Given the description of an element on the screen output the (x, y) to click on. 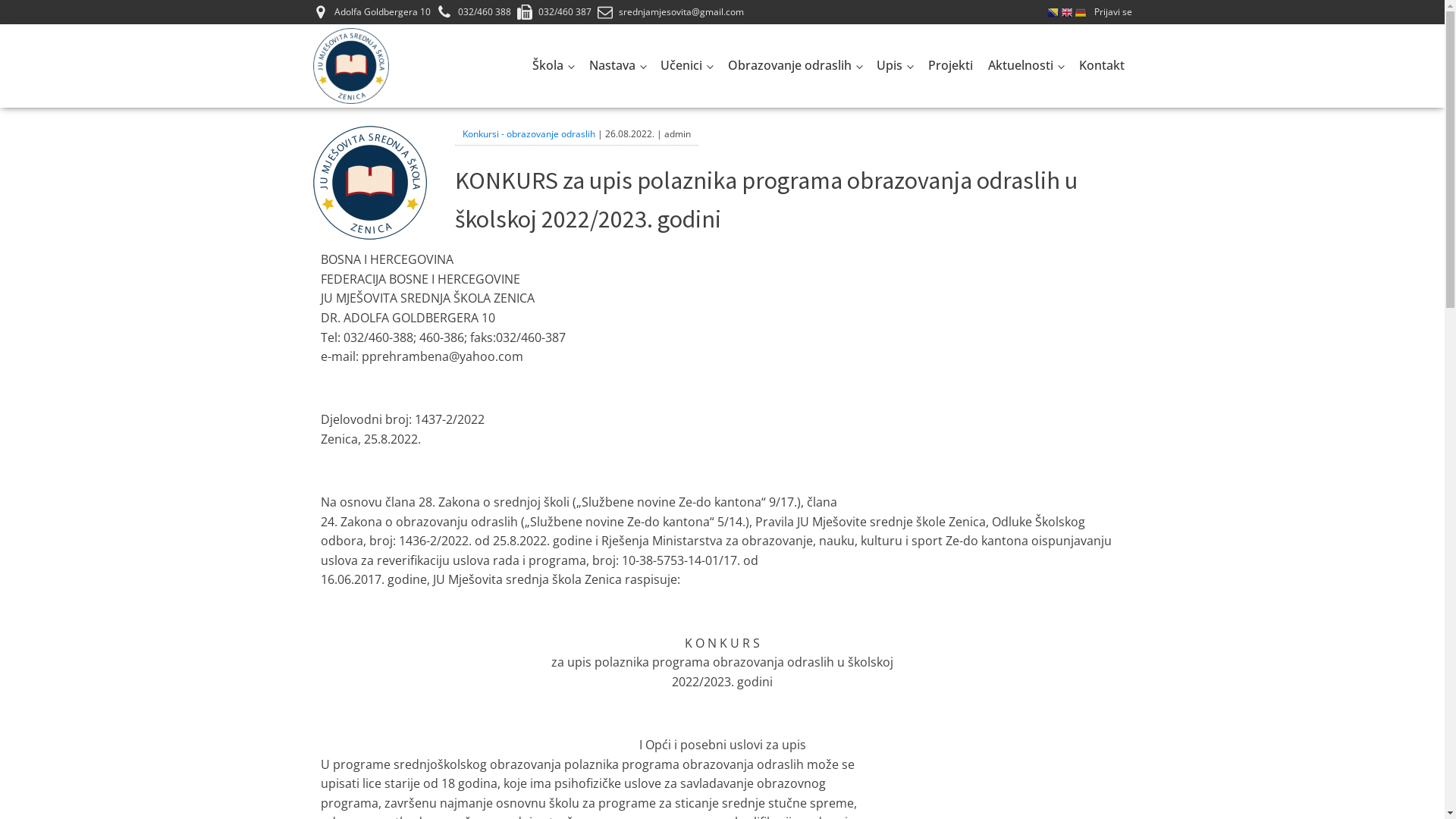
srednjamjesovita@gmail.com Element type: text (680, 11)
Nastava Element type: text (617, 65)
English Element type: hover (1066, 11)
Konkursi - obrazovanje odraslih Element type: text (528, 133)
Bosnian Element type: hover (1053, 11)
Obrazovanje odraslih Element type: text (794, 65)
German Element type: hover (1080, 11)
Prijavi se Element type: text (1112, 11)
Kontakt Element type: text (1100, 65)
032/460 388 Element type: text (484, 11)
Upis Element type: text (894, 65)
Aktuelnosti Element type: text (1025, 65)
Projekti Element type: text (950, 65)
